Given the description of an element on the screen output the (x, y) to click on. 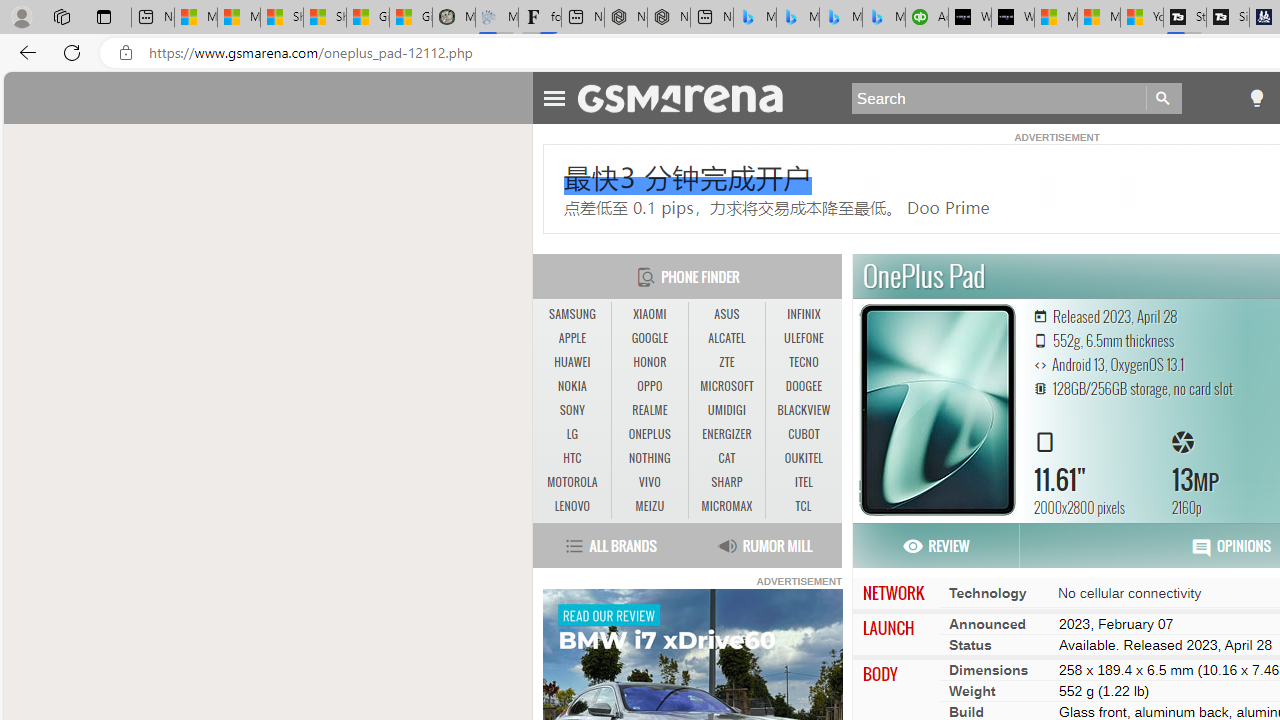
NOTHING (649, 457)
APPLE (571, 339)
ITEL (803, 482)
OPPO (649, 386)
ITEL (803, 483)
HUAWEI (571, 362)
ENERGIZER (726, 434)
UMIDIGI (726, 411)
MEIZU (649, 506)
MICROSOFT (726, 386)
ULEFONE (803, 339)
TECNO (803, 362)
LENOVO (571, 506)
